Given the description of an element on the screen output the (x, y) to click on. 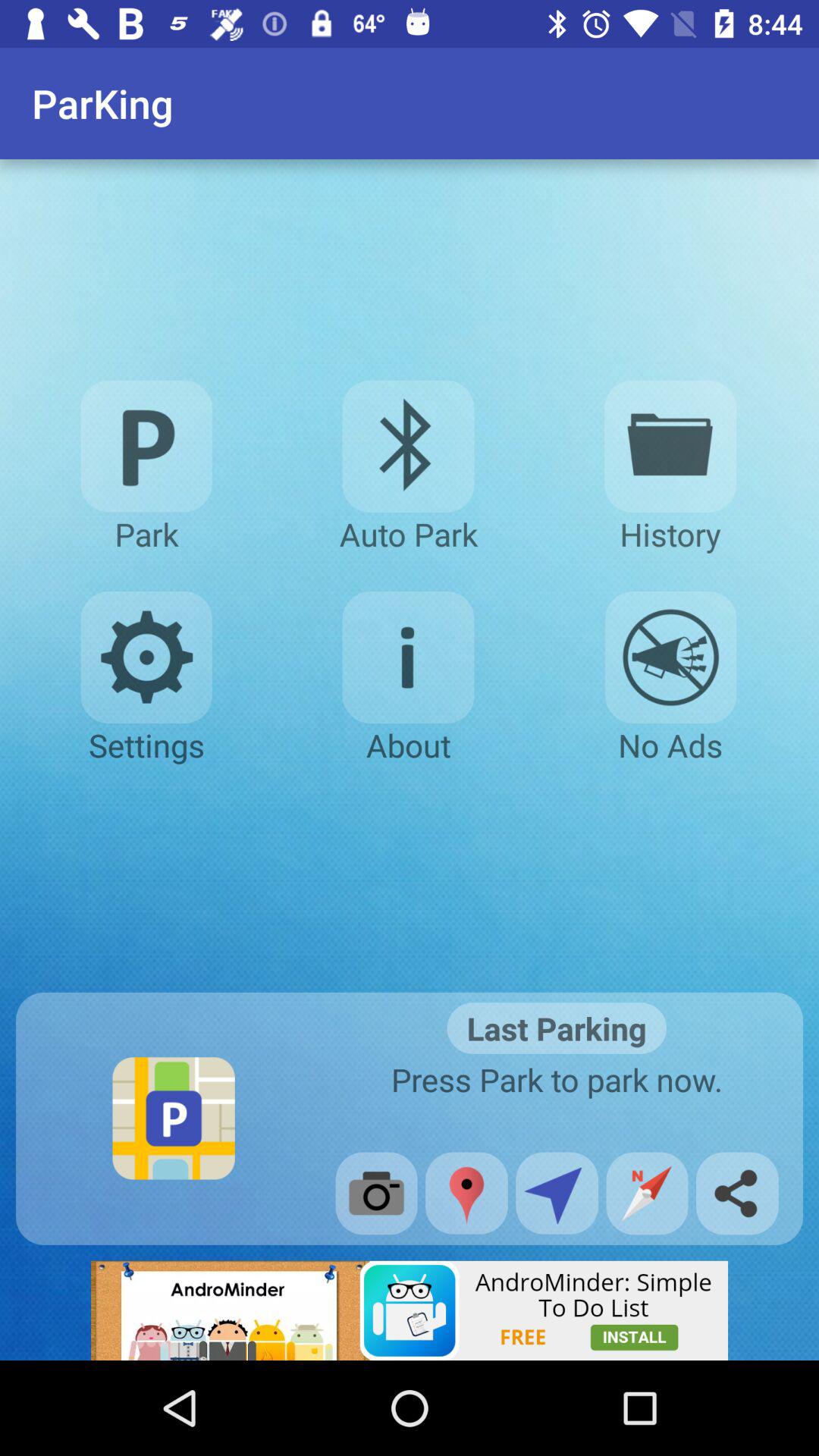
view location (466, 1193)
